Given the description of an element on the screen output the (x, y) to click on. 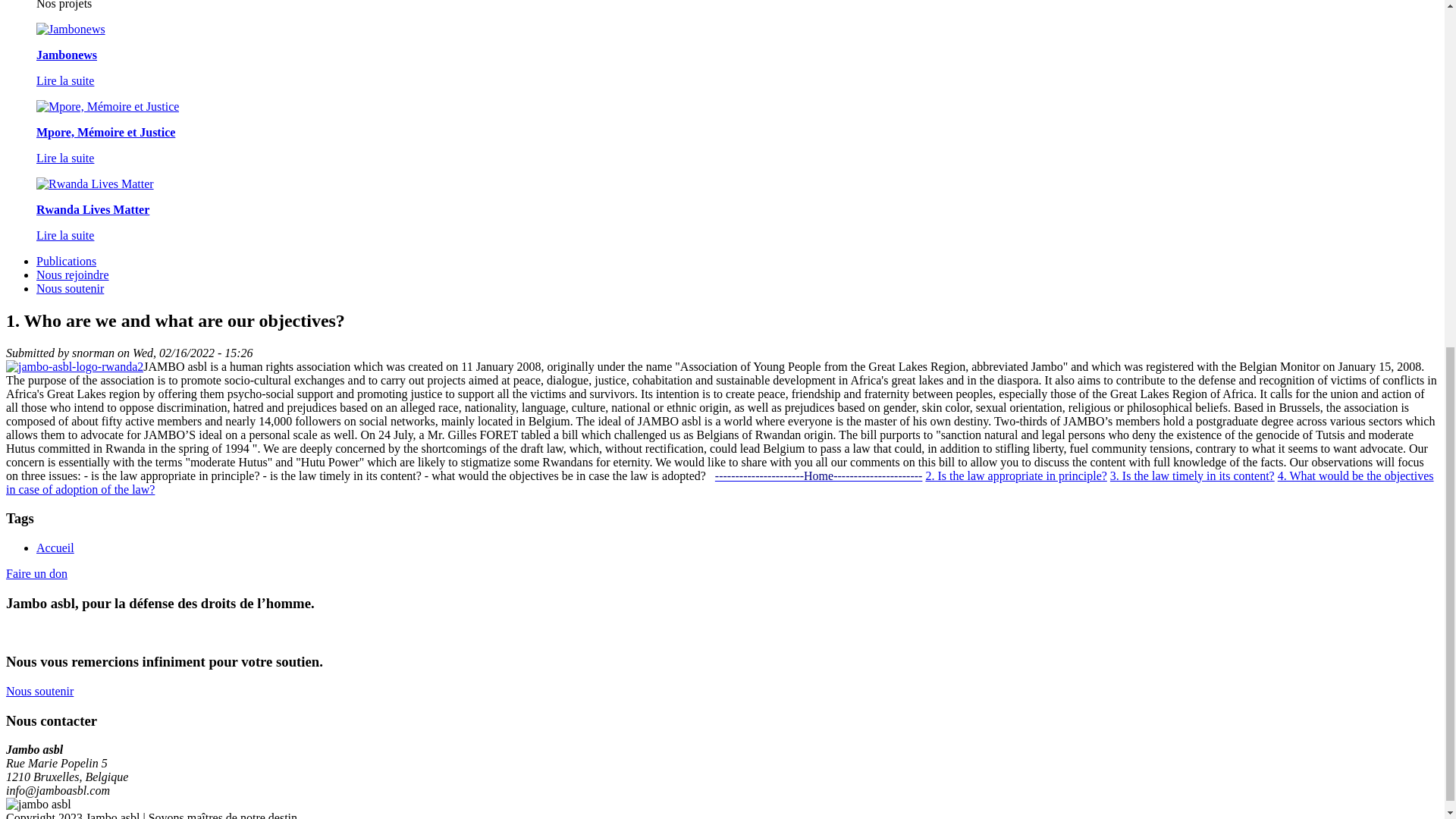
Nous rejoindre (72, 274)
Faire un don (35, 573)
Accueil (55, 547)
Publications (66, 260)
2. Is the law appropriate in principle? (1015, 475)
3. Is the law timely in its content? (1192, 475)
Nous soutenir (39, 690)
----------------------Home---------------------- (818, 475)
Nous soutenir (69, 287)
